Given the description of an element on the screen output the (x, y) to click on. 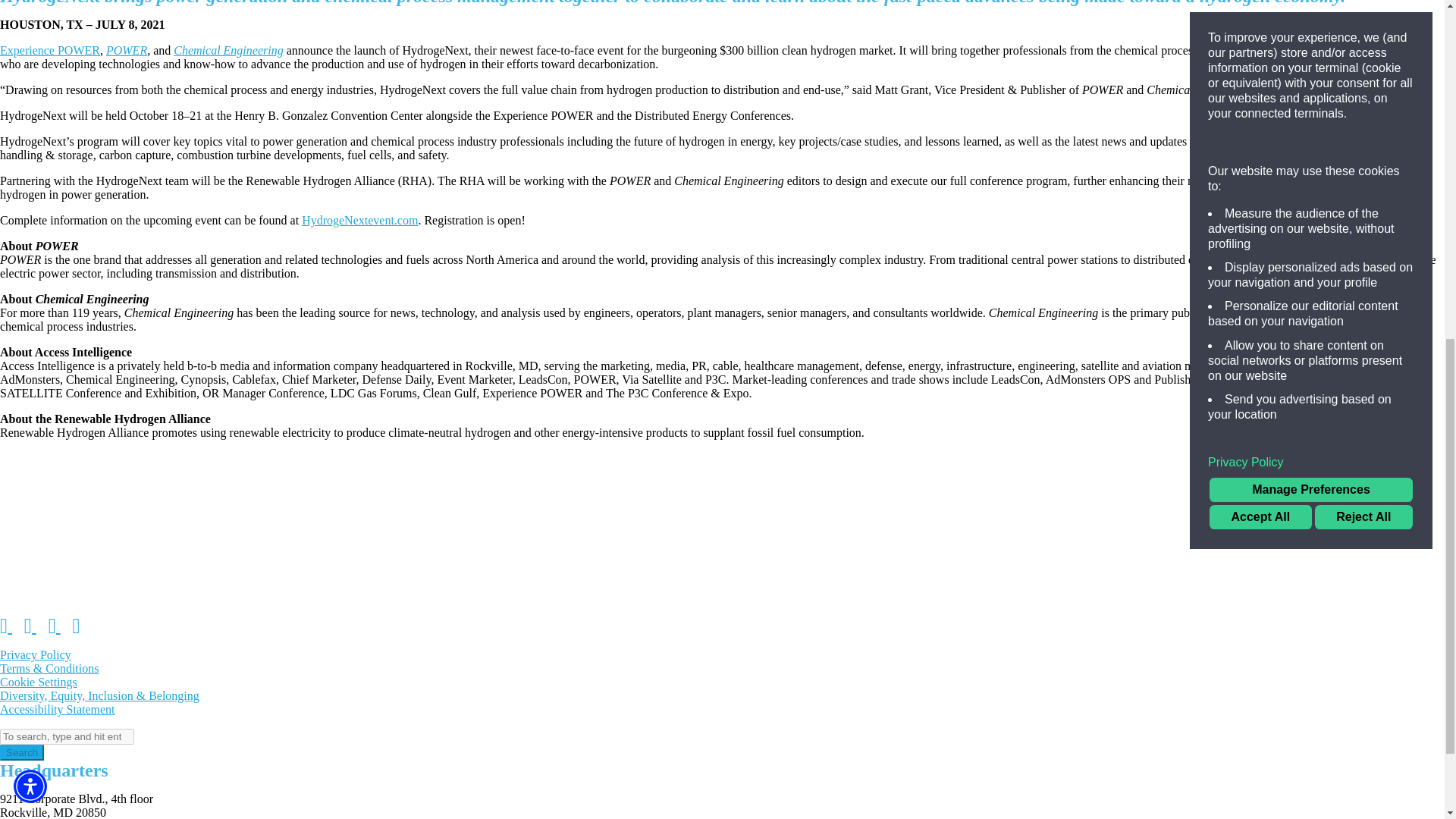
Accessibility Statement (57, 708)
Search (21, 752)
POWER (126, 50)
Experience POWER (50, 50)
HydrogeNextevent.com (359, 219)
Chemical Engineering (227, 50)
Privacy Policy (35, 654)
Cookie Settings (38, 681)
Accessibility Menu (29, 139)
